Given the description of an element on the screen output the (x, y) to click on. 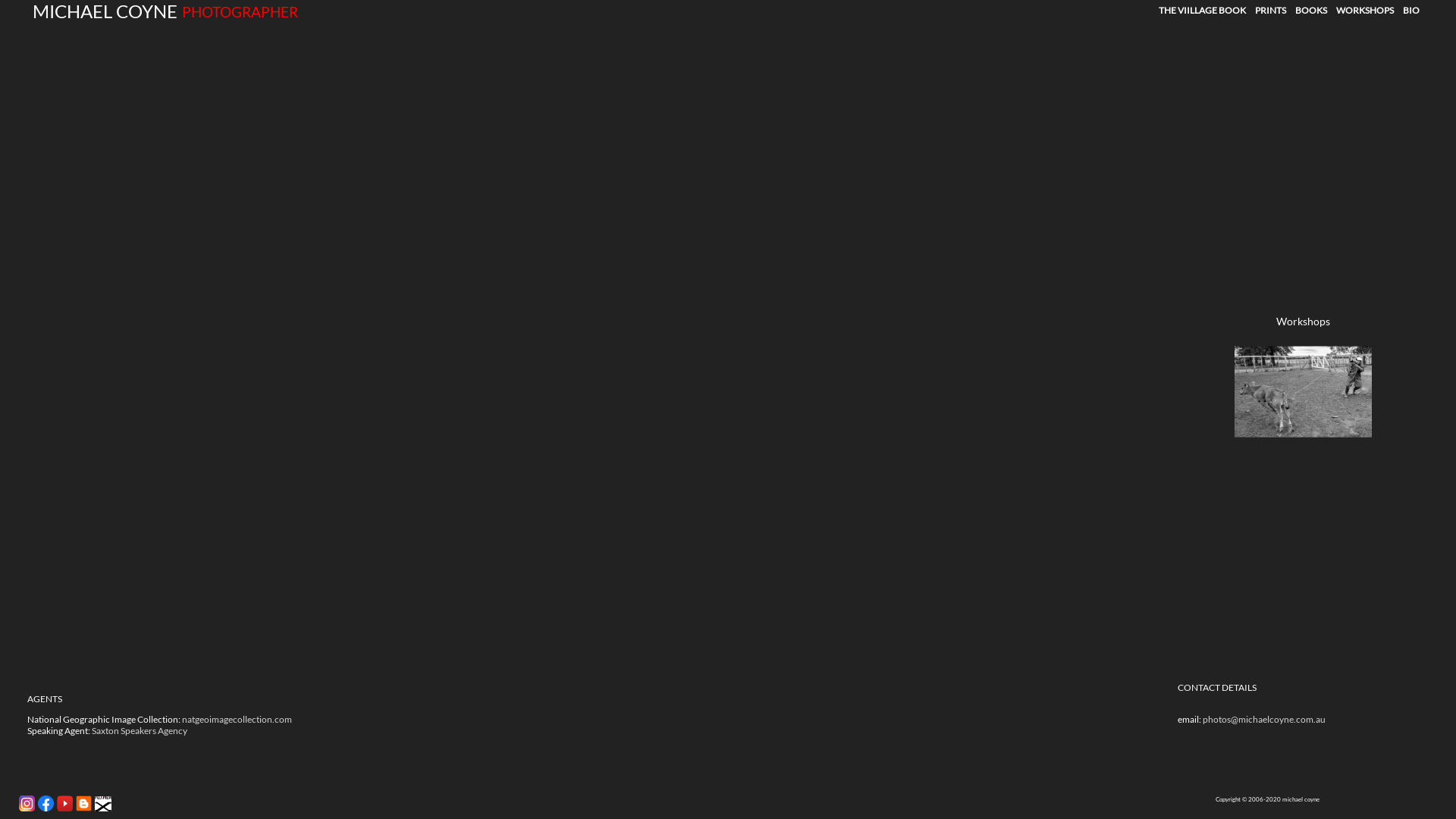
MICHAEL COYNE
PHOTOGRAPHER Element type: text (149, 10)
Blog Element type: hover (83, 808)
instagram Element type: hover (26, 803)
photos@michaelcoyne.com.au Element type: text (1263, 718)
natgeoimagecollection.com Element type: text (236, 718)
Saxton Speakers Agency Element type: text (139, 730)
facebook Element type: hover (45, 803)
Blog Element type: hover (83, 803)
YouTube Element type: hover (64, 803)
